Given the description of an element on the screen output the (x, y) to click on. 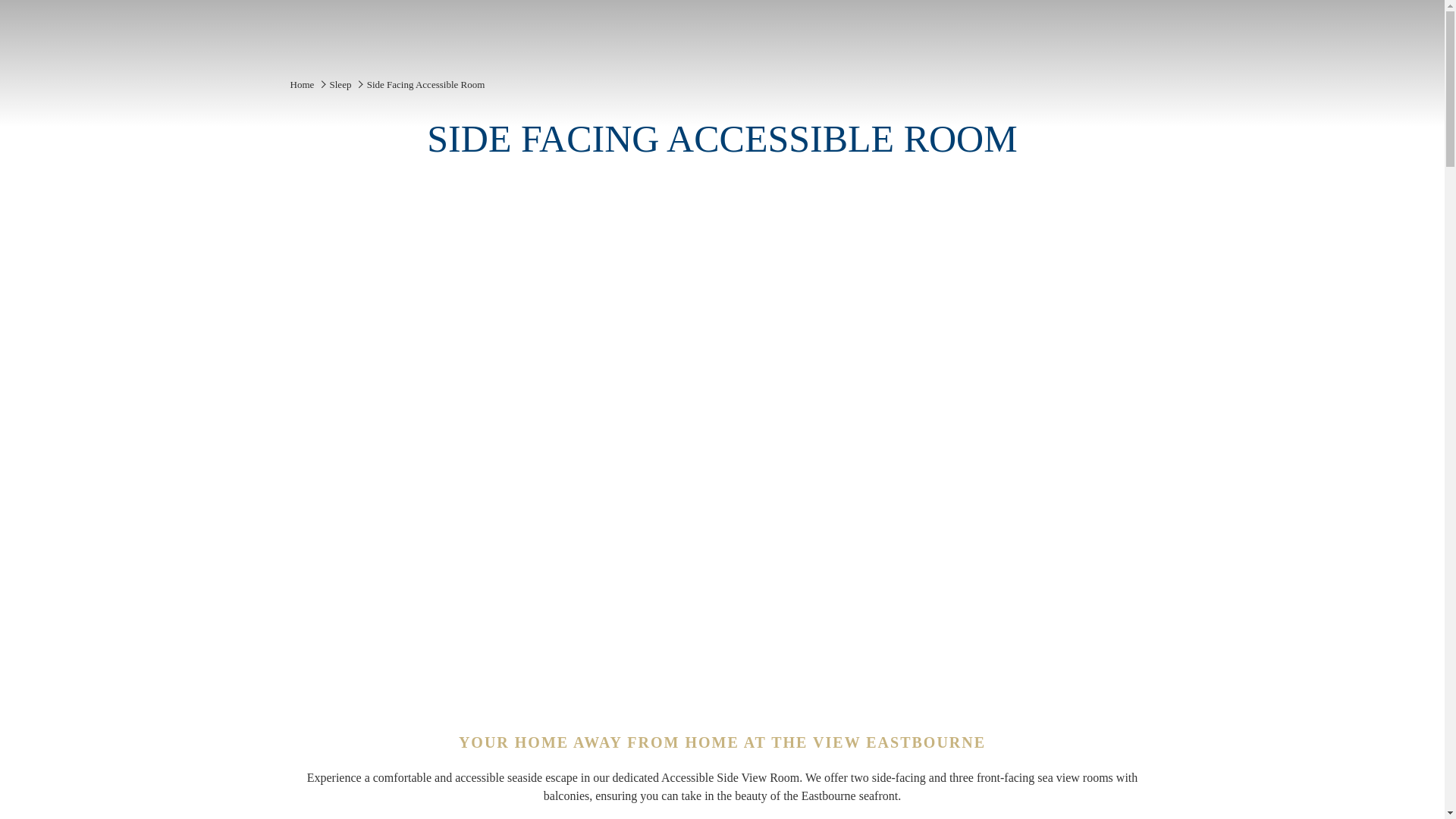
Side Facing Accessible Room (425, 84)
Home (301, 84)
Sleep (341, 84)
